Given the description of an element on the screen output the (x, y) to click on. 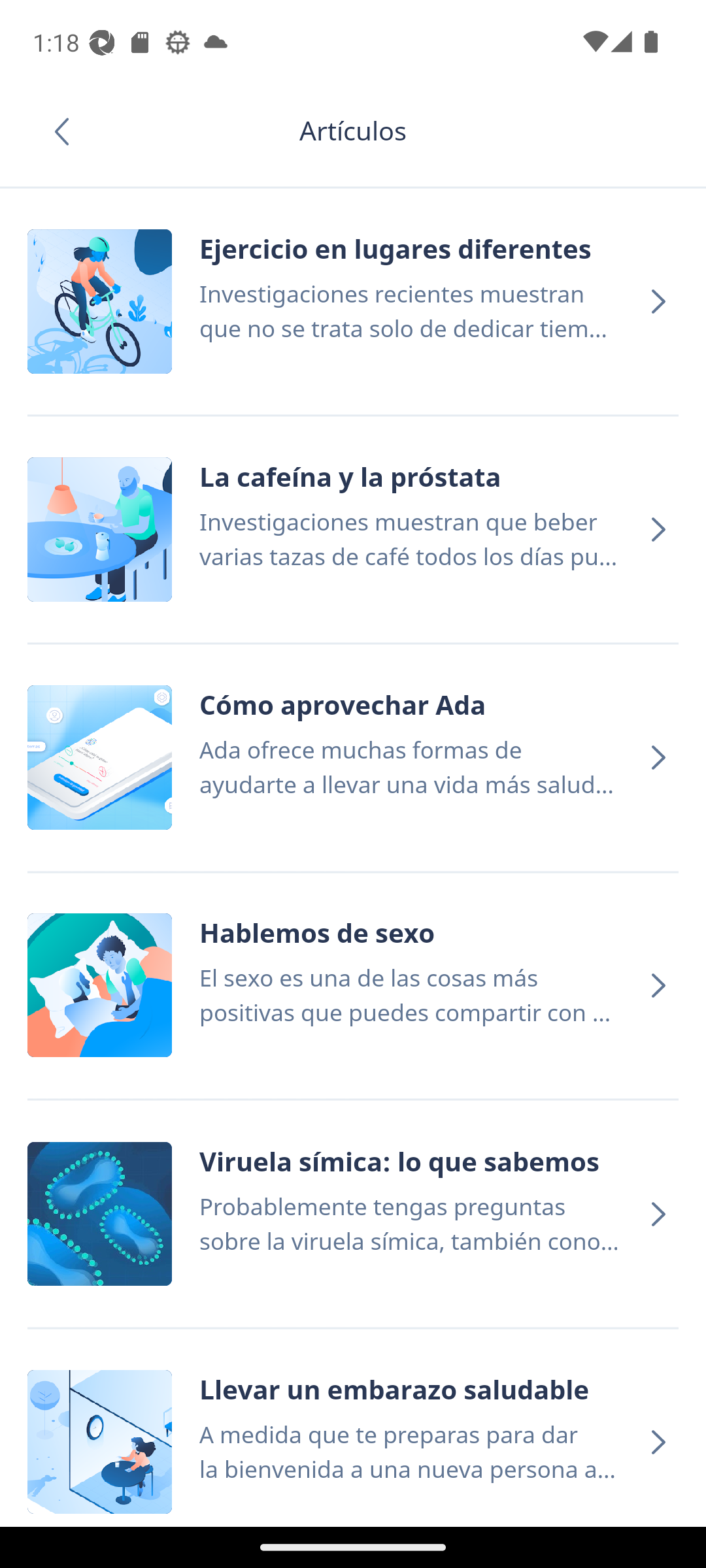
Go back, Navigates to the previous screen (68, 131)
